Given the description of an element on the screen output the (x, y) to click on. 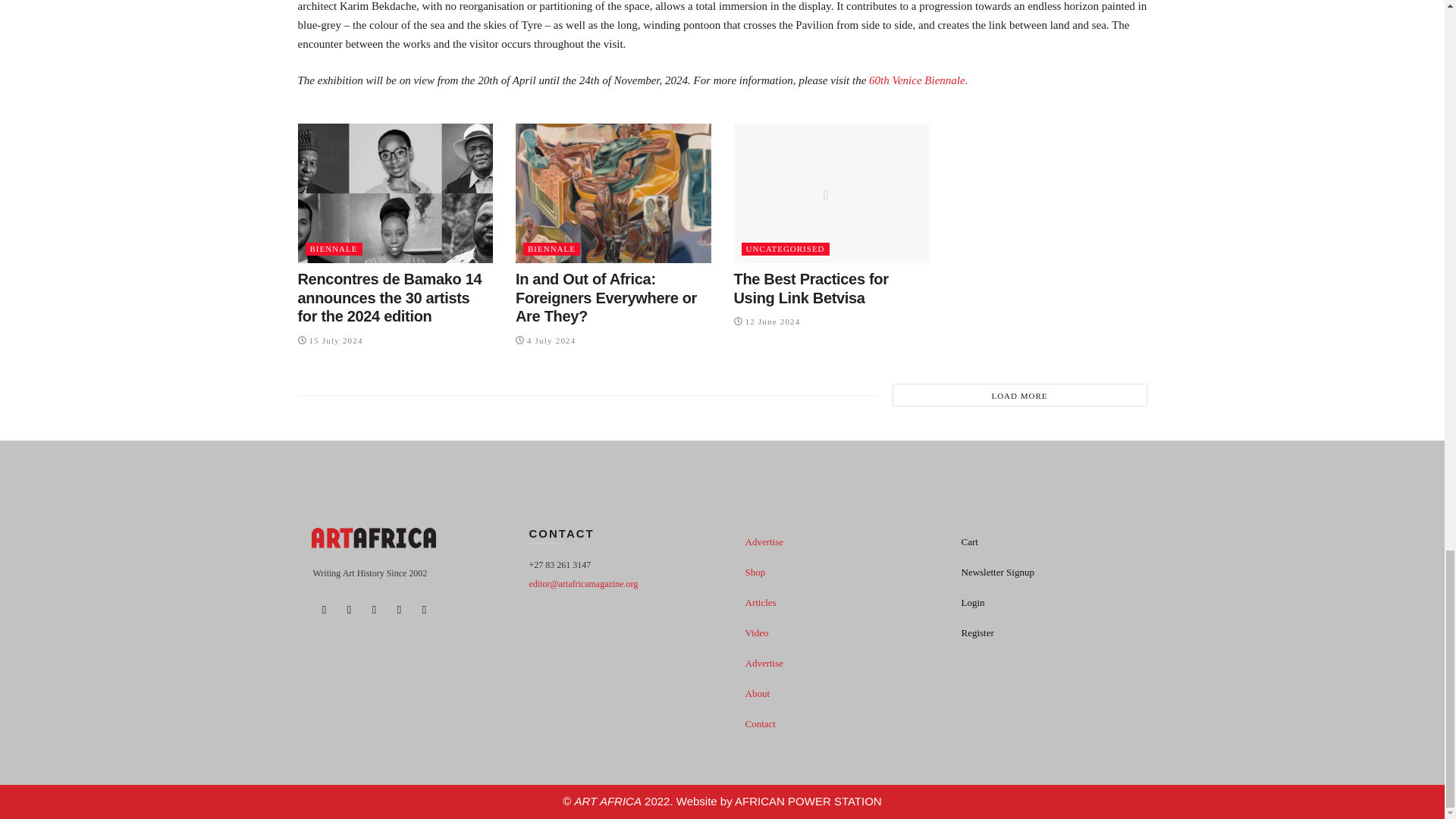
12 June 2024 (766, 320)
Icon-facebook (323, 609)
4 July 2024 (545, 338)
In and Out of Africa: Foreigners Everywhere or Are They? (606, 297)
LOAD MORE (1019, 395)
60th Venice Biennale. (918, 80)
UNCATEGORISED (785, 248)
15 July 2024 (329, 338)
BIENNALE (332, 248)
BIENNALE (550, 248)
The Best Practices for Using Link Betvisa (810, 288)
